Given the description of an element on the screen output the (x, y) to click on. 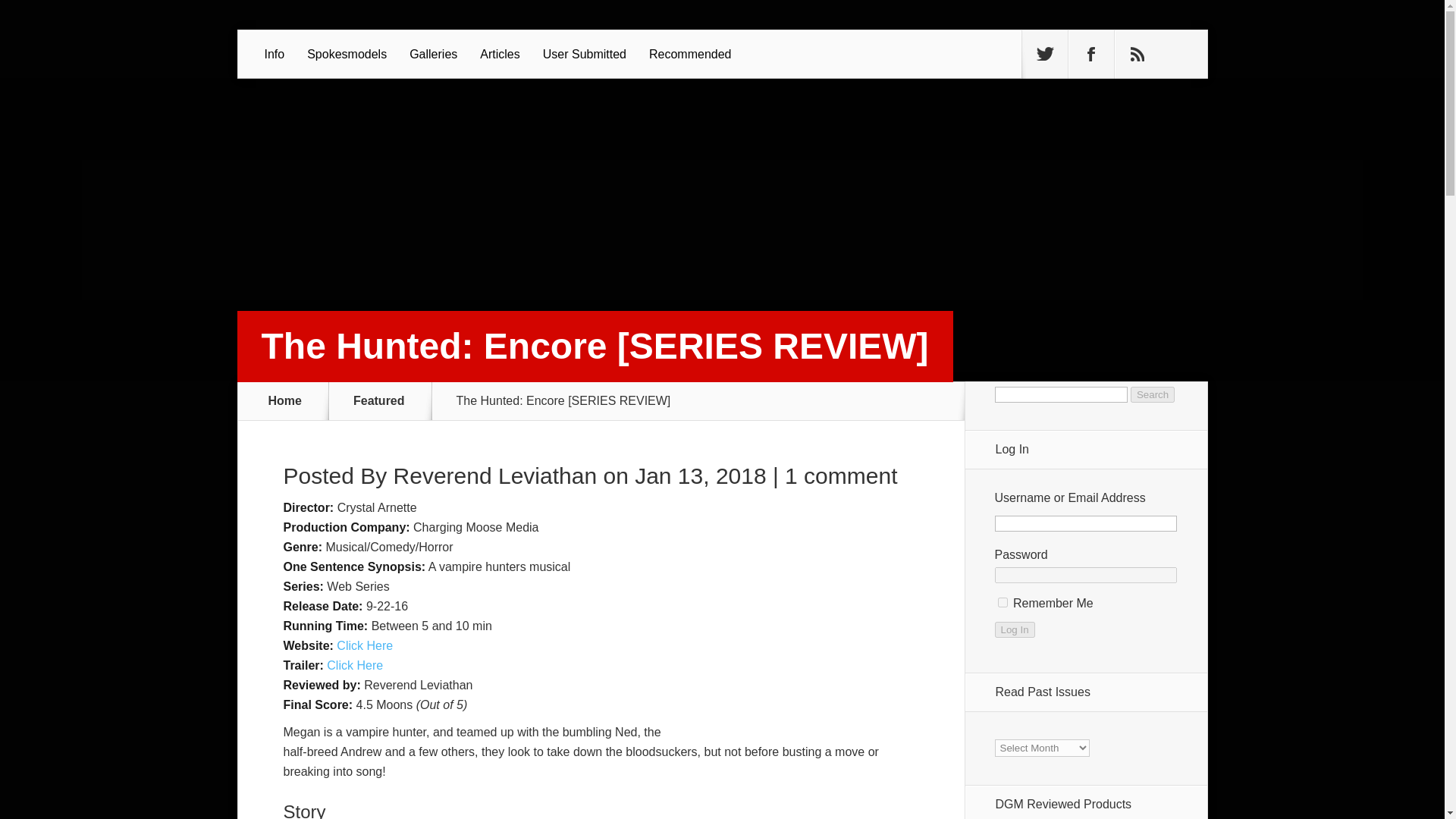
forever (1002, 602)
Search (1152, 394)
Galleries (432, 54)
Spokesmodels (346, 54)
Posts by Reverend Leviathan (494, 475)
Info (275, 54)
